Given the description of an element on the screen output the (x, y) to click on. 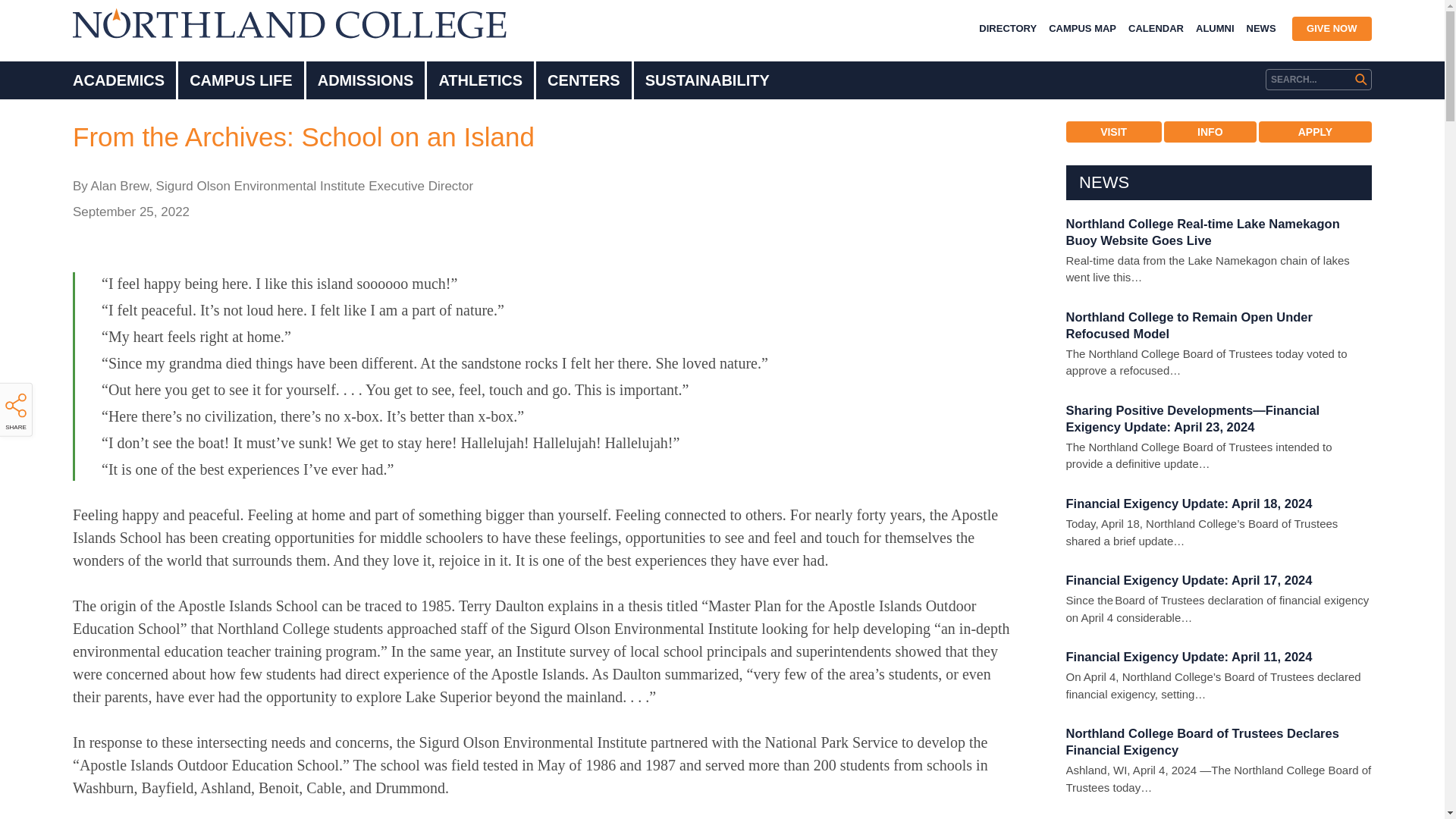
ATHLETICS (480, 80)
CAMPUS LIFE (240, 80)
GIVE NOW (1331, 28)
SUSTAINABILITY (706, 80)
NEWS (1261, 28)
ADMISSIONS (365, 80)
ACADEMICS (118, 80)
ALUMNI (1214, 28)
Northland College (289, 22)
CAMPUS MAP (1082, 28)
